Given the description of an element on the screen output the (x, y) to click on. 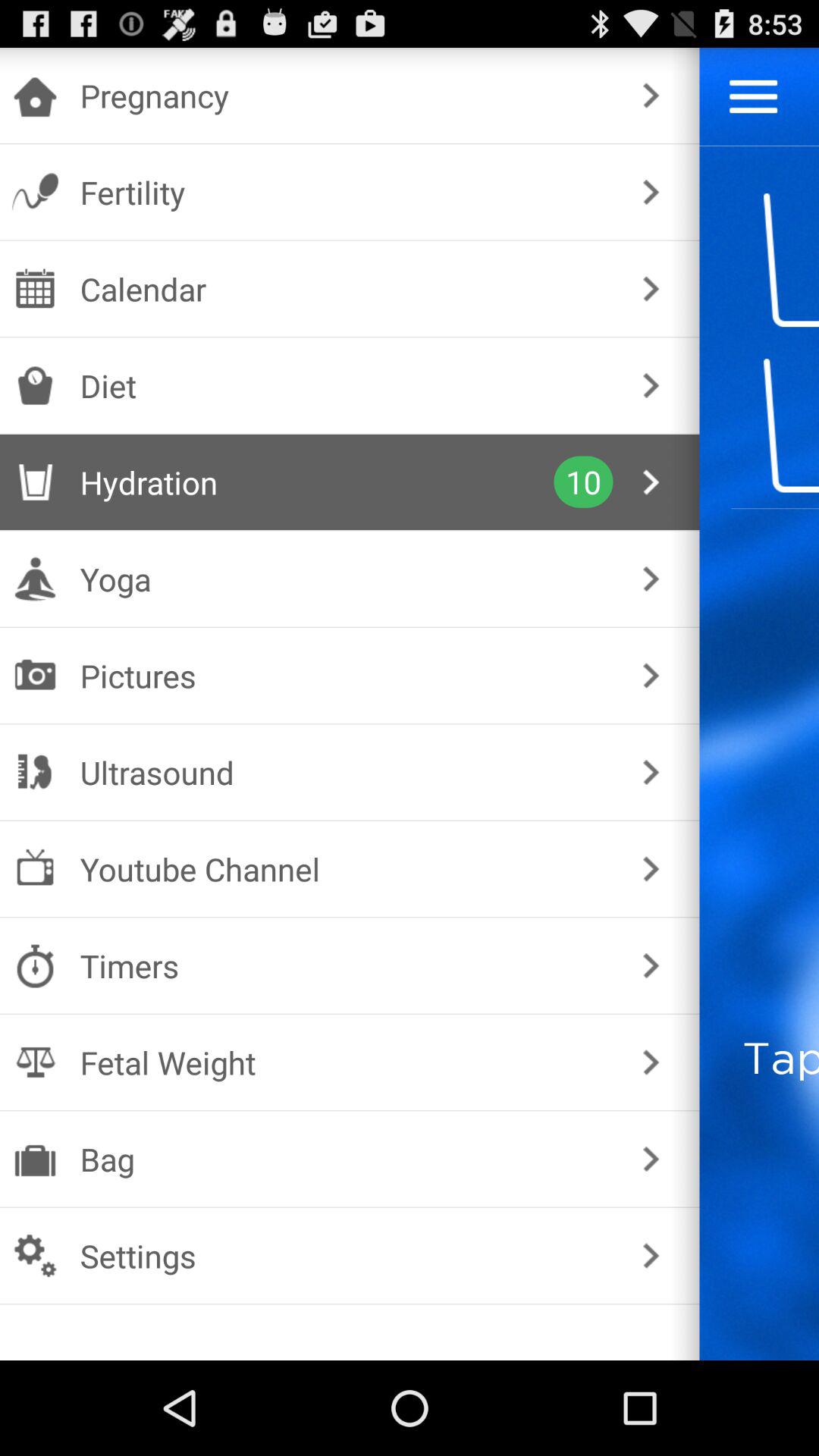
launch icon below the timers (346, 1062)
